Given the description of an element on the screen output the (x, y) to click on. 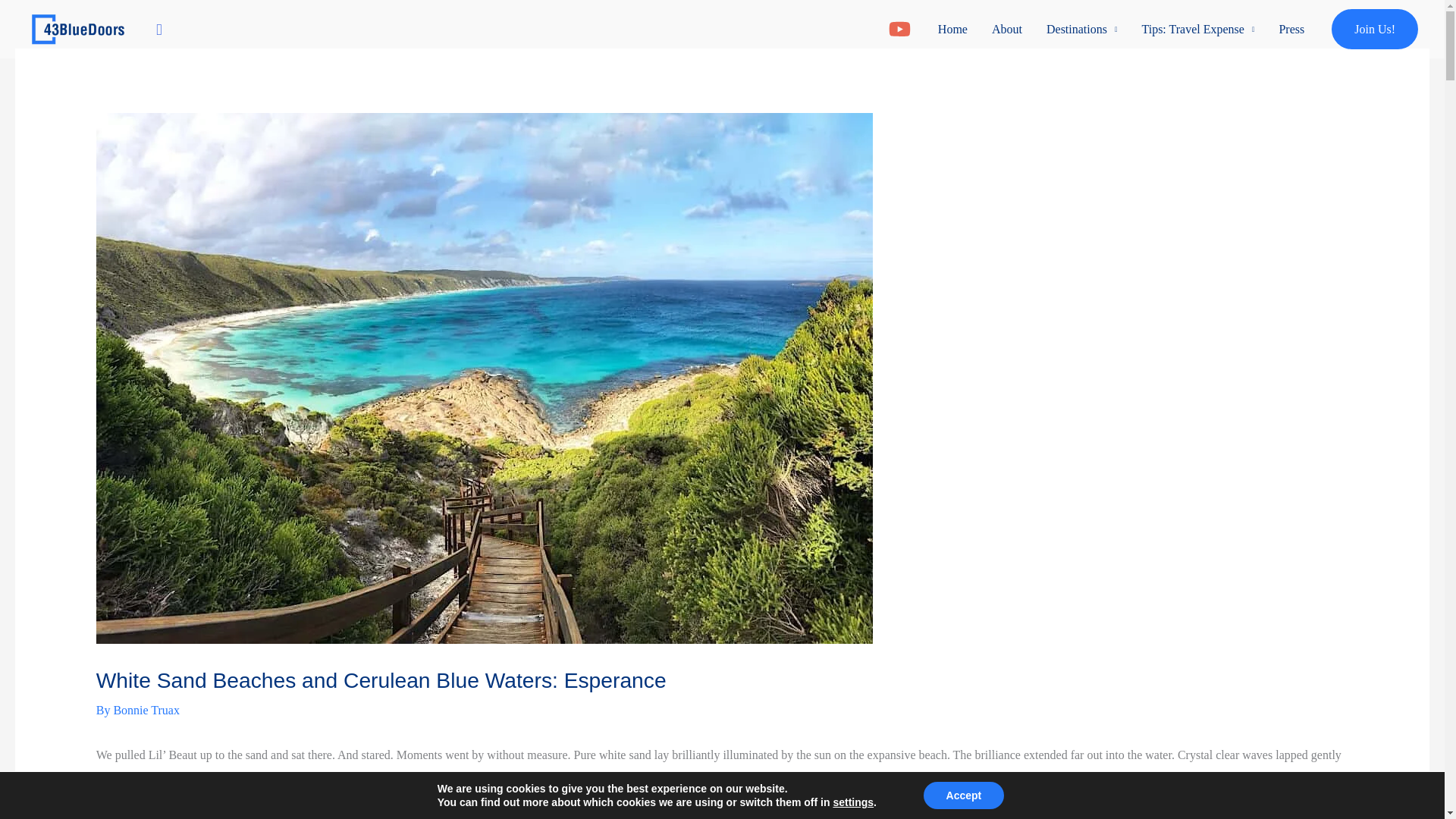
Destinations (1081, 29)
About (1006, 29)
View all posts by Bonnie Truax (146, 709)
Home (952, 29)
